Given the description of an element on the screen output the (x, y) to click on. 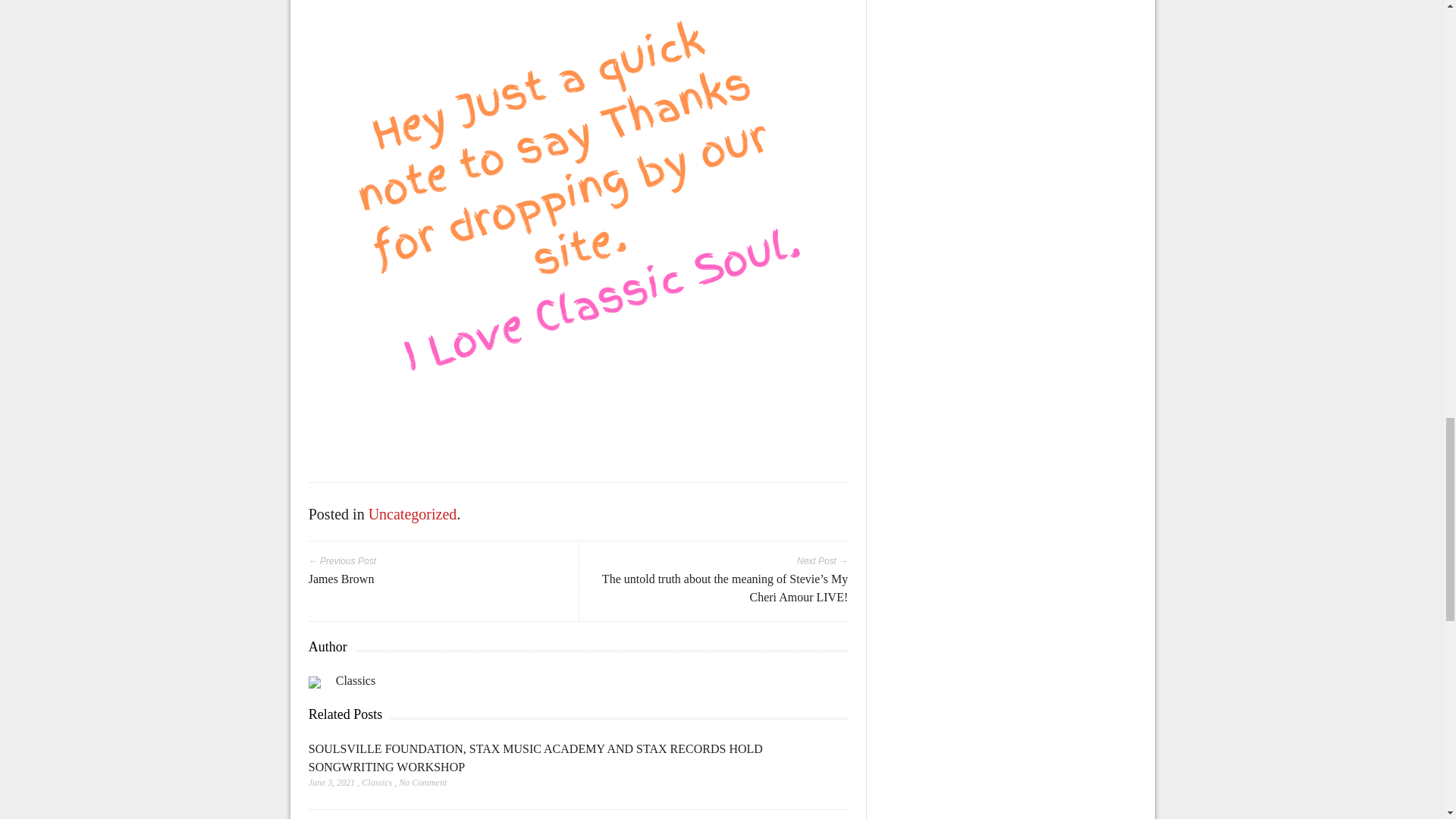
Classics (355, 680)
Classics (376, 782)
Uncategorized (412, 514)
No Comment (422, 782)
Posts by Classics (376, 782)
Posts by Classics (355, 680)
